Given the description of an element on the screen output the (x, y) to click on. 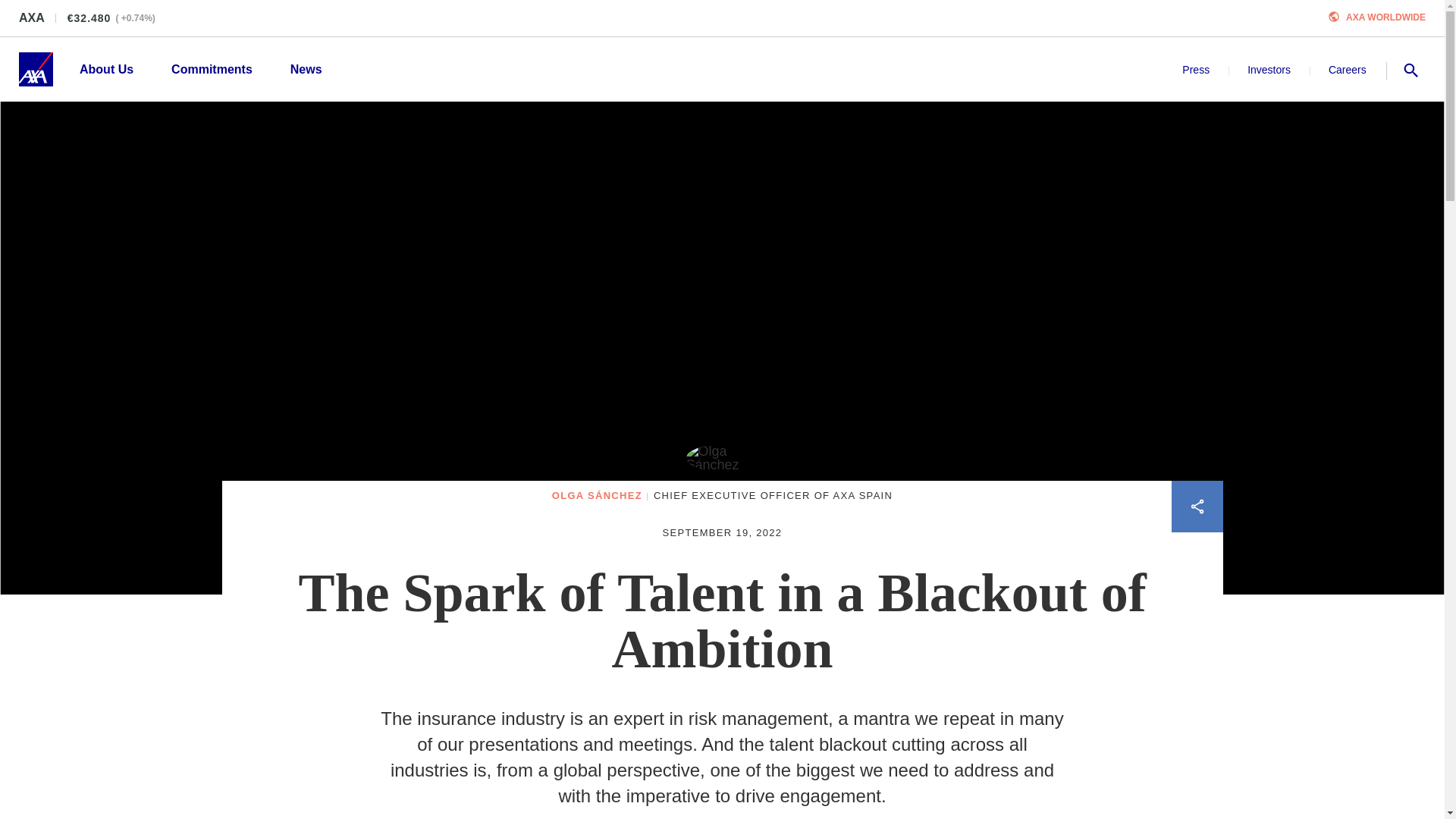
About Us (106, 69)
Back to home of AXA's website (35, 69)
Careers (1347, 69)
News (305, 69)
AXA WORLDWIDE (1385, 17)
Open search form (1409, 69)
Back to home of AXA's website (35, 69)
Investors (1268, 69)
Open search form (1409, 68)
Press (1195, 69)
Commitments (211, 69)
